Given the description of an element on the screen output the (x, y) to click on. 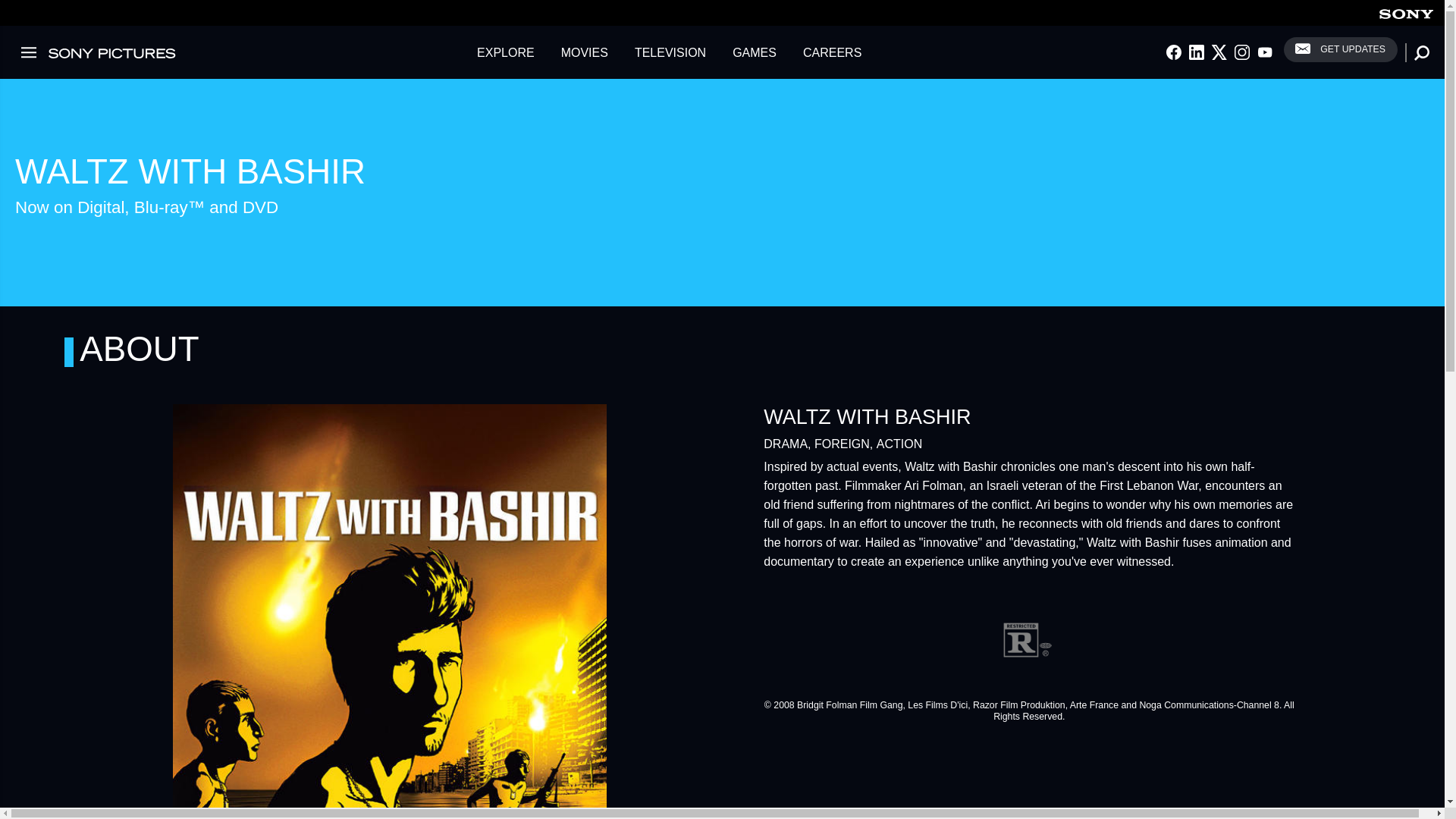
CAREERS (832, 51)
GET UPDATES (1340, 49)
LINKEDIN (1196, 51)
EXPLORE (505, 51)
YOUTUBE (1264, 51)
INSTAGRAM (1241, 51)
TWITTER (1219, 51)
Search (7, 7)
FACEBOOK (1173, 51)
Sony (1405, 11)
GAMES (753, 51)
MOVIES (585, 51)
TELEVISION (670, 51)
